Given the description of an element on the screen output the (x, y) to click on. 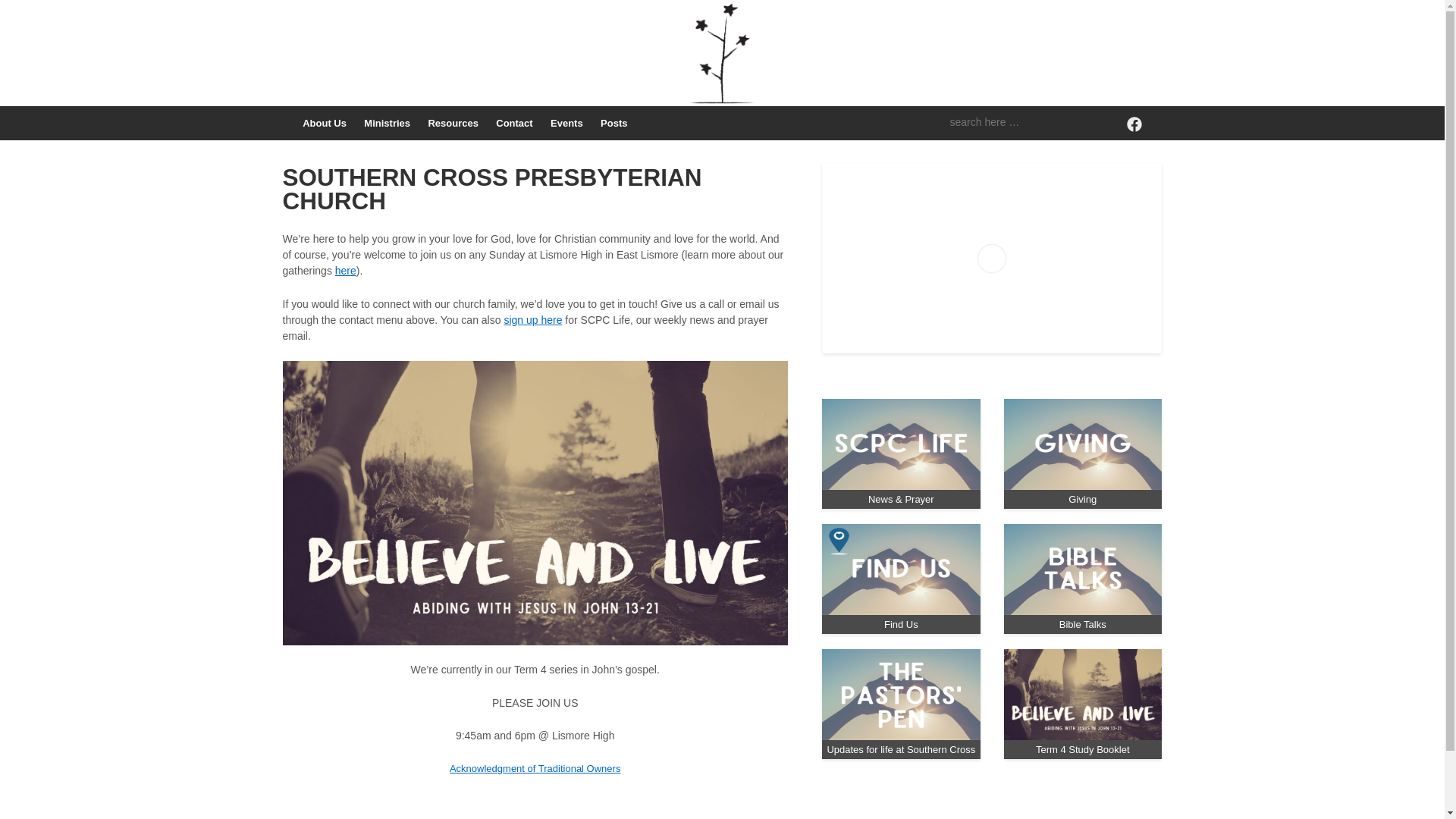
Acknowledgment of Traditional Owners Element type: text (534, 768)
Ministries Element type: text (387, 123)
Go Element type: text (15, 11)
About Us Element type: text (324, 123)
Events Element type: text (566, 123)
Contact Element type: text (514, 123)
here Element type: text (345, 270)
sign up here Element type: text (532, 319)
Resources Element type: text (453, 123)
Posts Element type: text (613, 123)
SOUTHERN CROSS PRESBYTERIAN CHURCH Element type: text (491, 189)
